Given the description of an element on the screen output the (x, y) to click on. 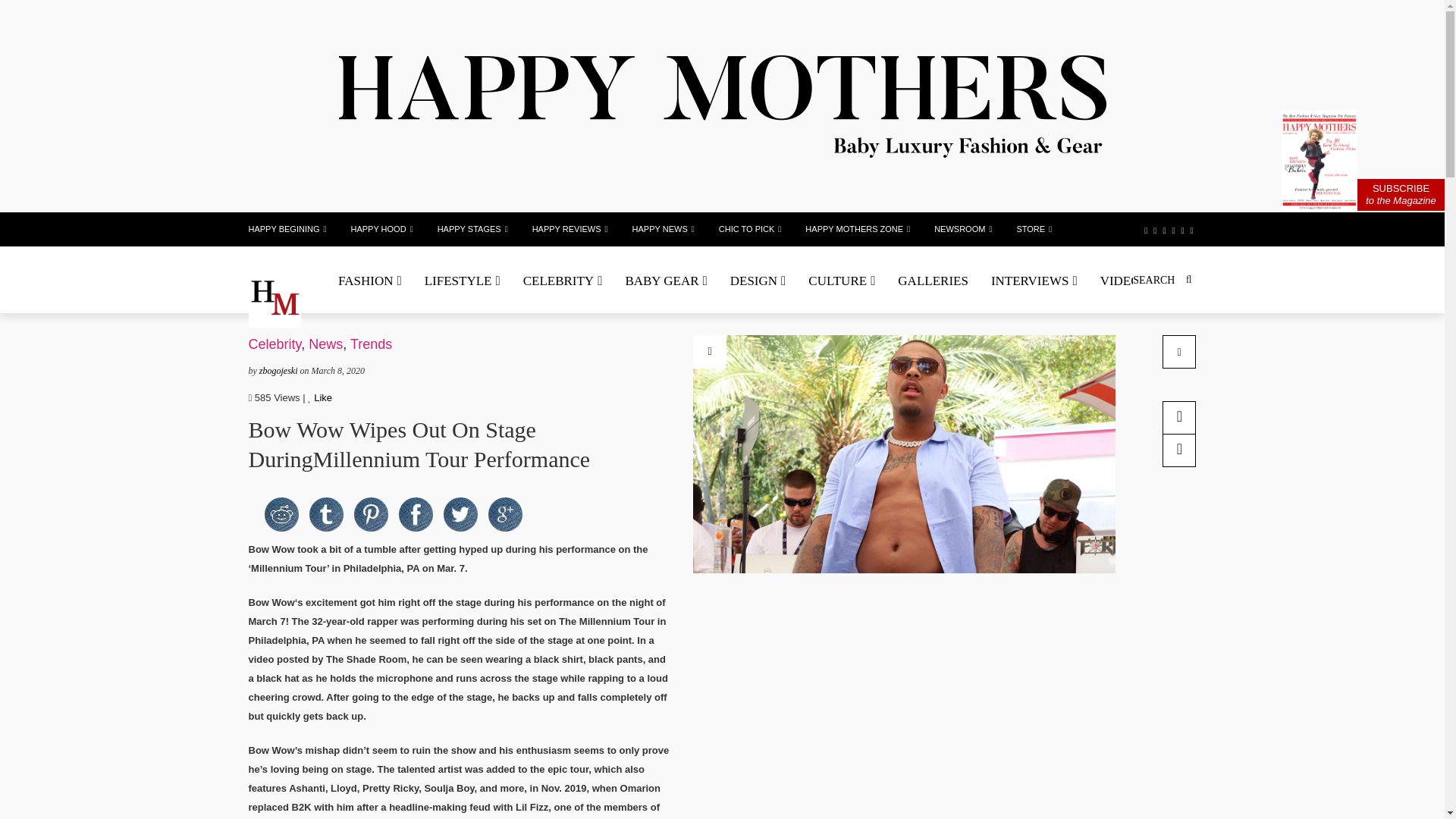
Like (319, 397)
tumblr (325, 514)
Pinterest (370, 514)
Twitter (459, 514)
Reddit (280, 514)
Facebook (416, 514)
